Given the description of an element on the screen output the (x, y) to click on. 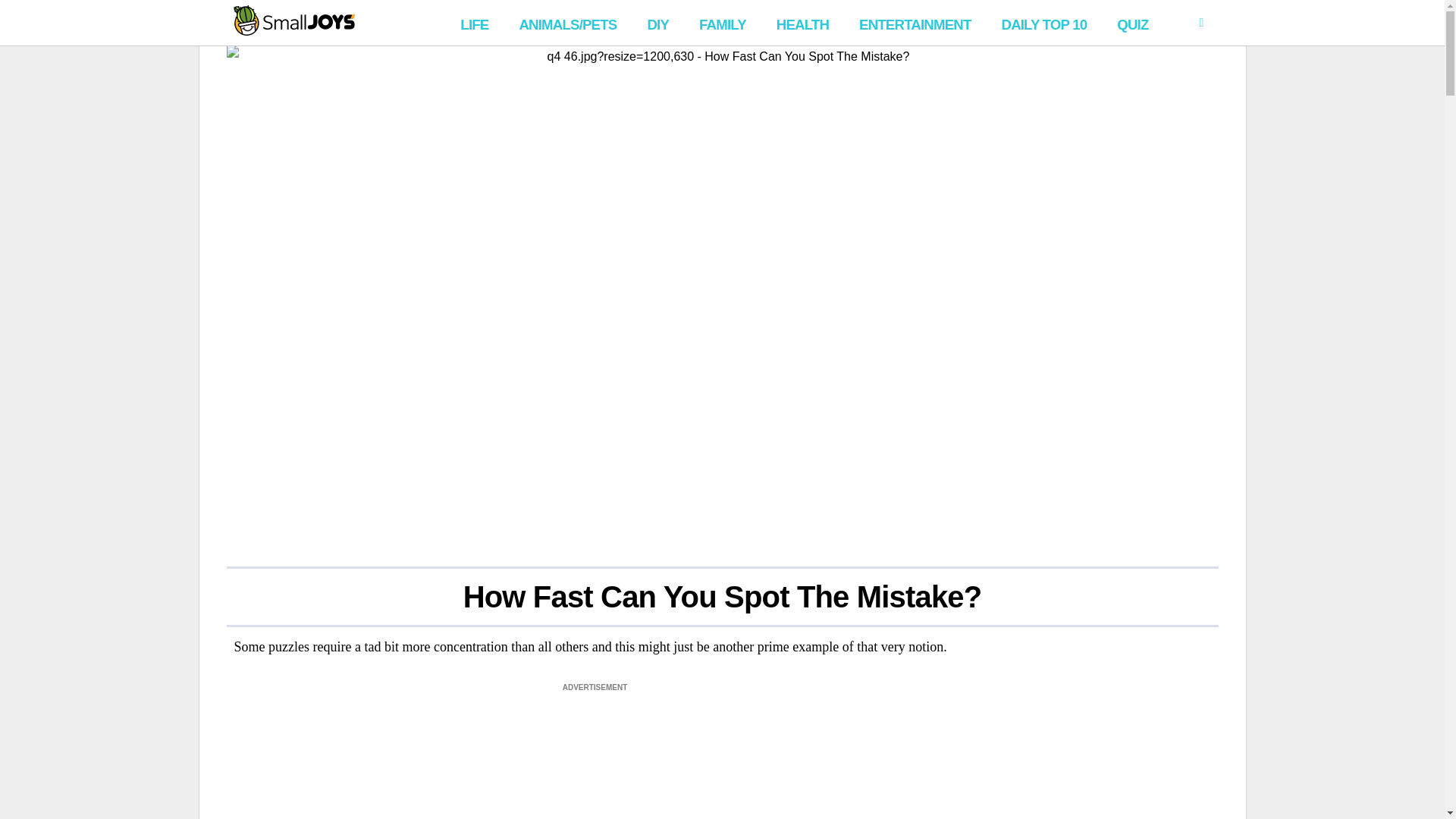
HEALTH (801, 22)
FAMILY (722, 22)
LIFE (474, 22)
QUIZ (1132, 22)
ENTERTAINMENT (914, 22)
DAILY TOP 10 (1043, 22)
